Given the description of an element on the screen output the (x, y) to click on. 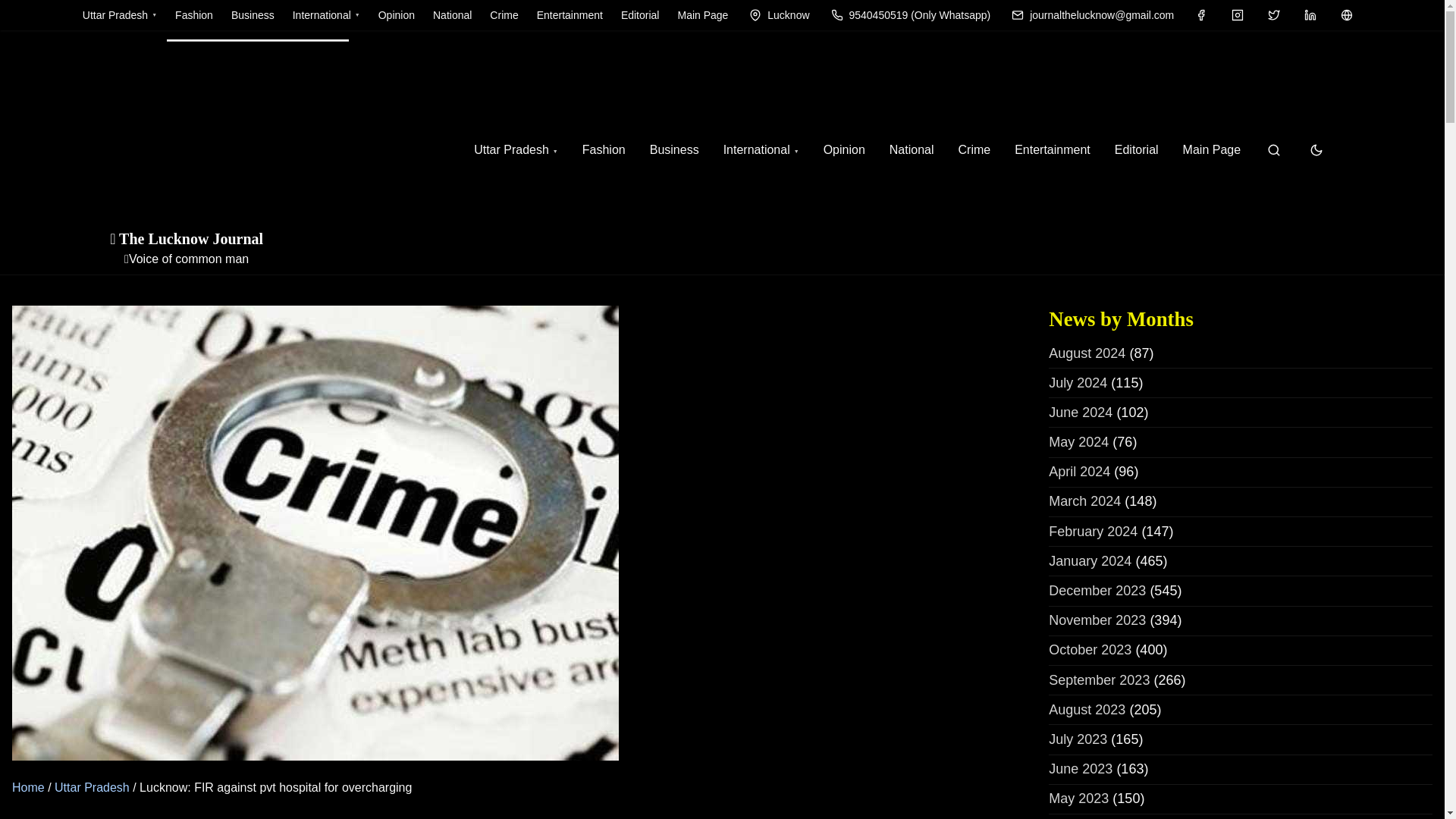
Fashion (193, 15)
Uttar Pradesh (515, 149)
Opinion (843, 149)
Main Page (702, 15)
Entertainment (569, 15)
International (760, 149)
International (326, 15)
Main Page (1211, 149)
National (451, 15)
Uttar Pradesh (120, 15)
